Given the description of an element on the screen output the (x, y) to click on. 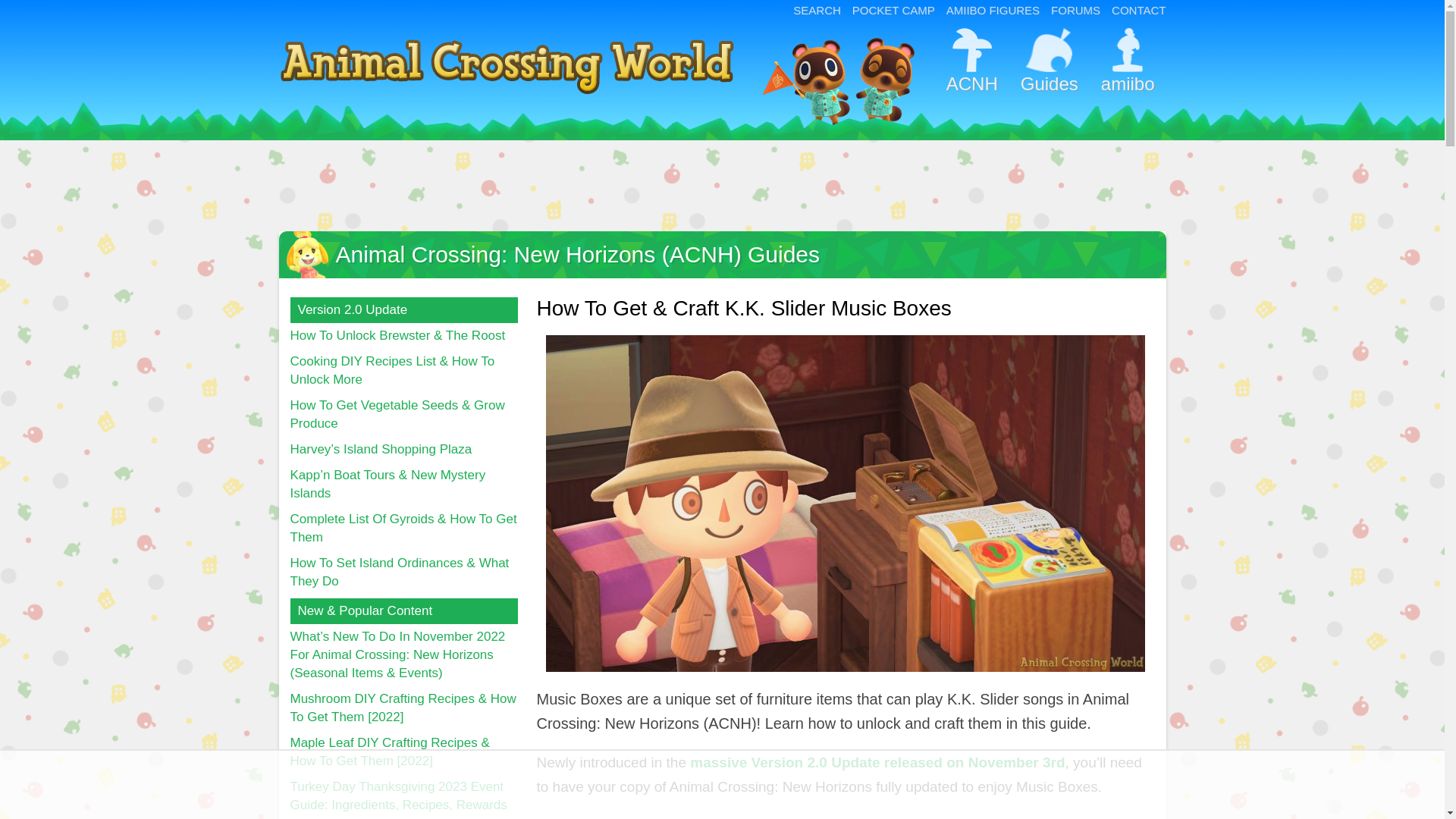
Version 2.0 Update (402, 309)
POCKET CAMP (892, 10)
CONTACT (1139, 10)
Guides (1049, 68)
AMIIBO FIGURES (992, 10)
SEARCH (817, 10)
FORUMS (1075, 10)
amiibo (1127, 68)
ACNH (971, 68)
